Given the description of an element on the screen output the (x, y) to click on. 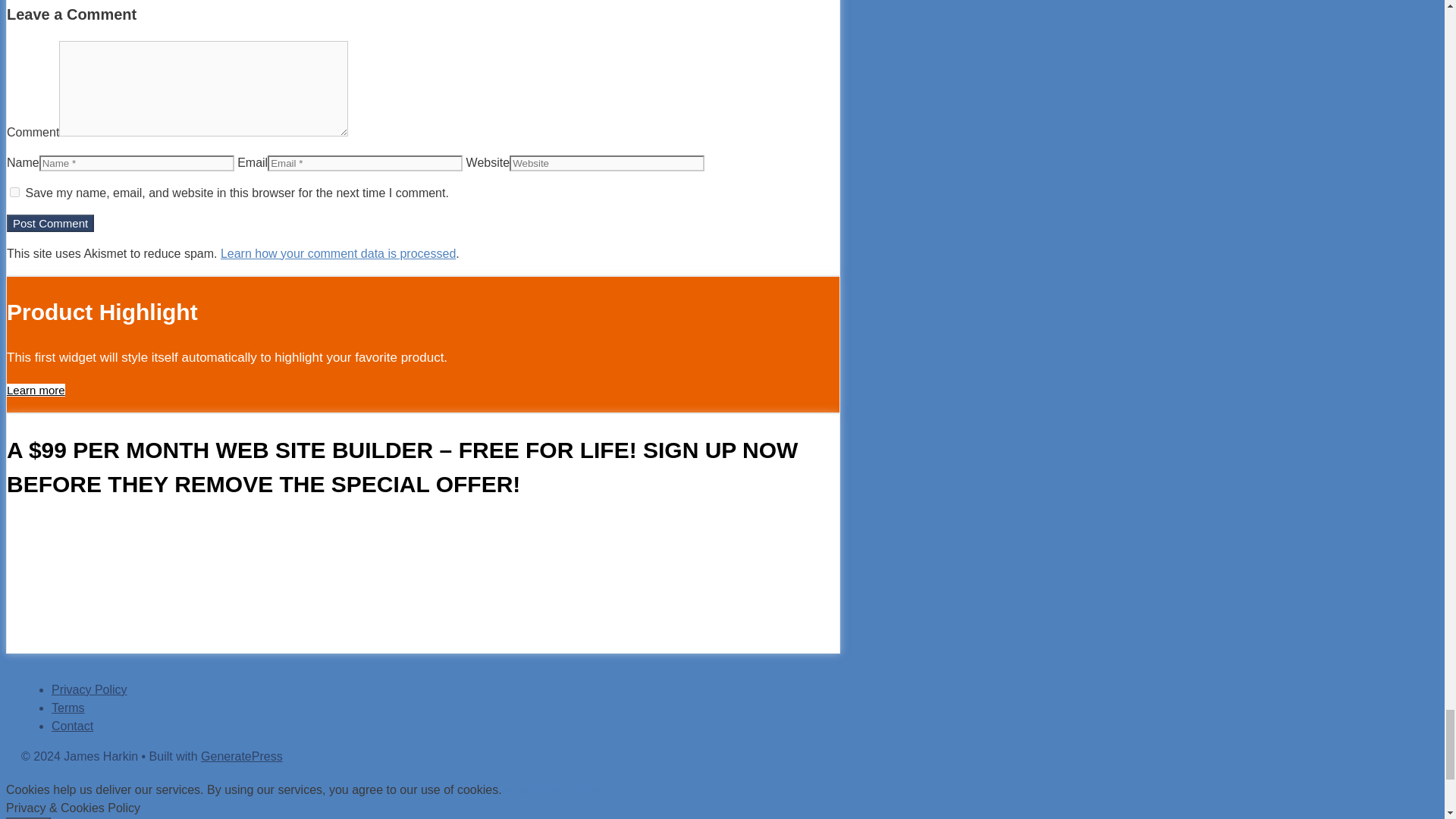
yes (15, 192)
Post Comment (50, 222)
